Given the description of an element on the screen output the (x, y) to click on. 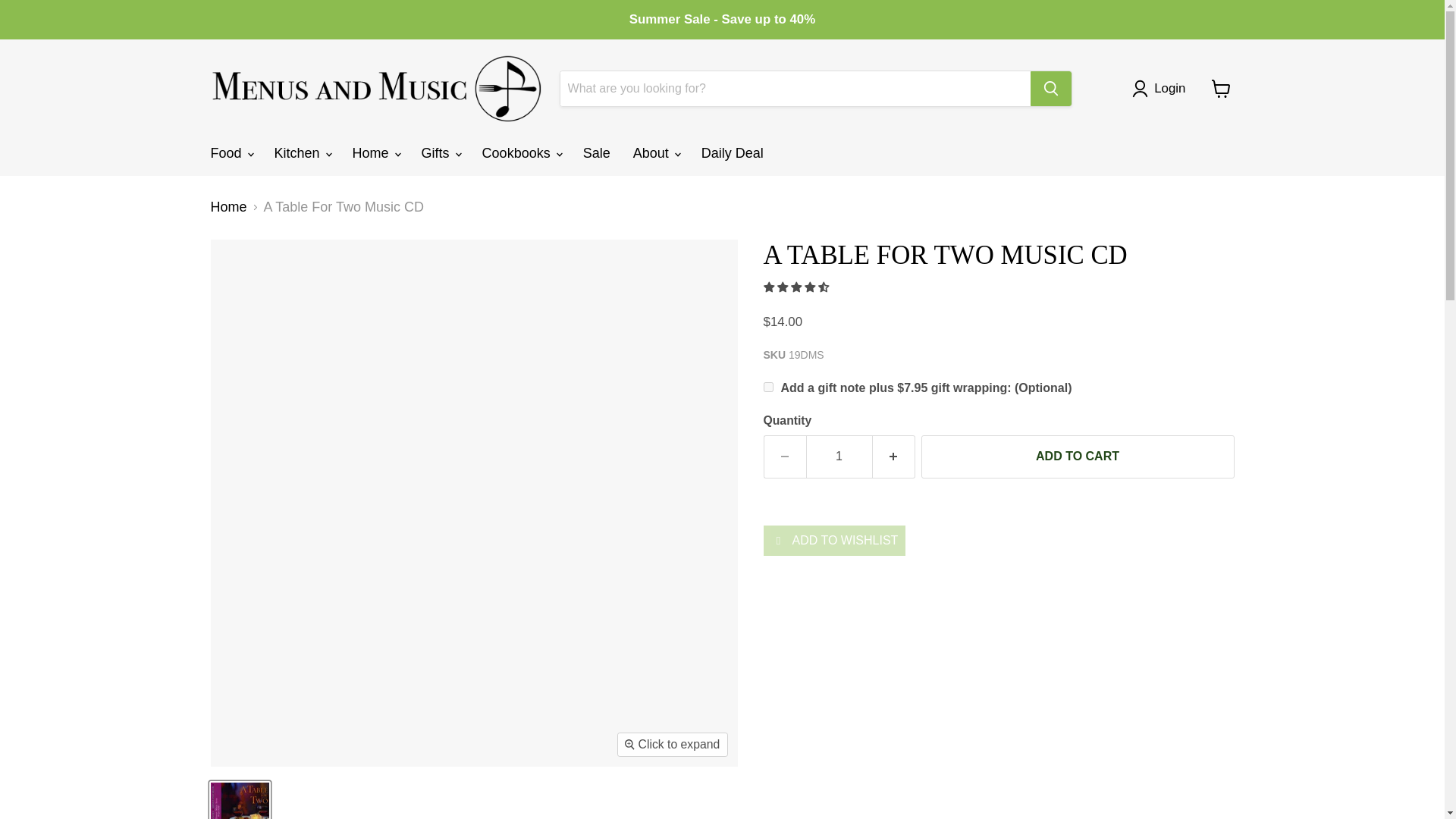
47610017022252 (767, 387)
Login (1162, 88)
View cart (1221, 88)
1 (838, 455)
